Given the description of an element on the screen output the (x, y) to click on. 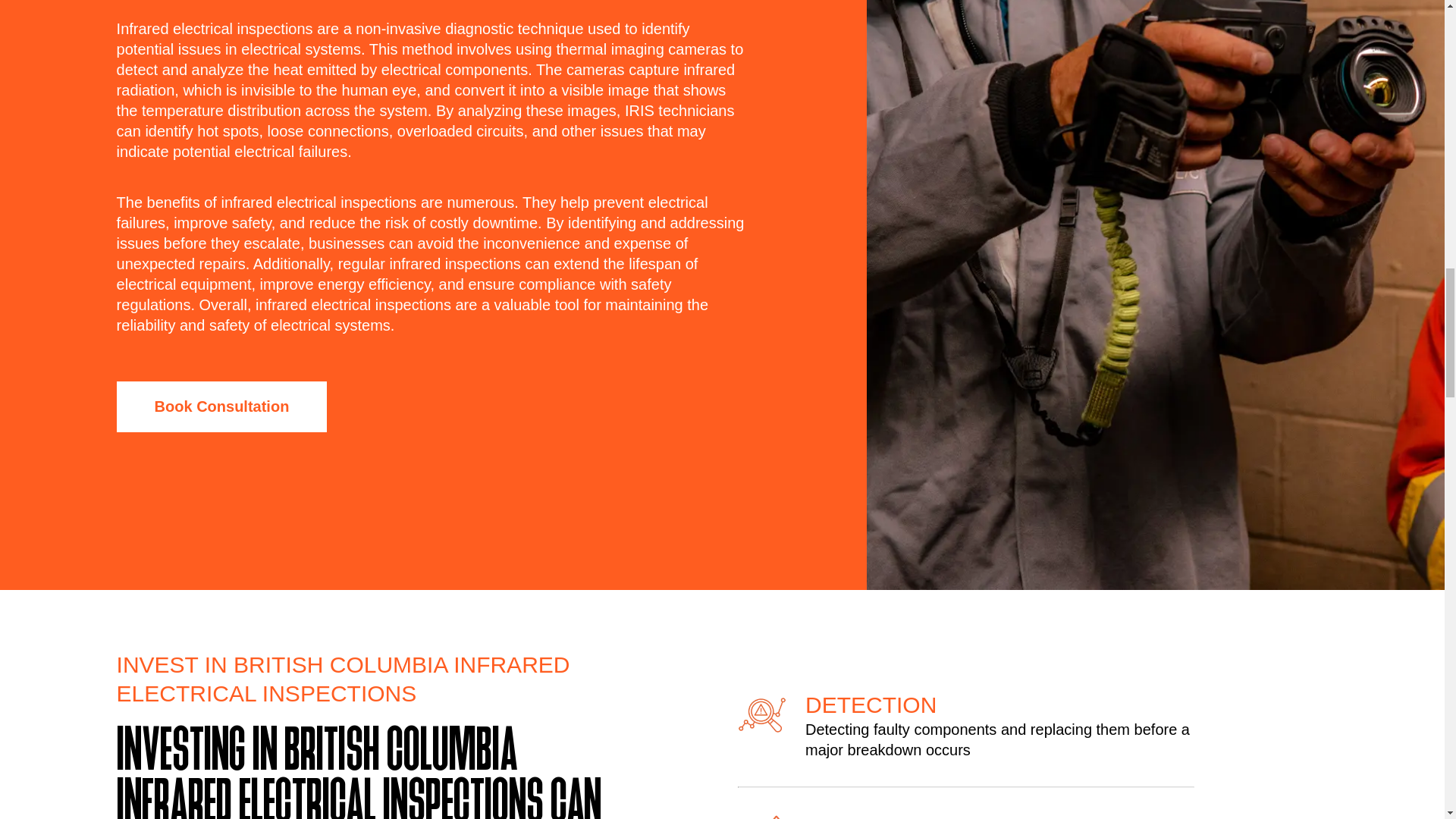
Get in Touch (221, 406)
